Given the description of an element on the screen output the (x, y) to click on. 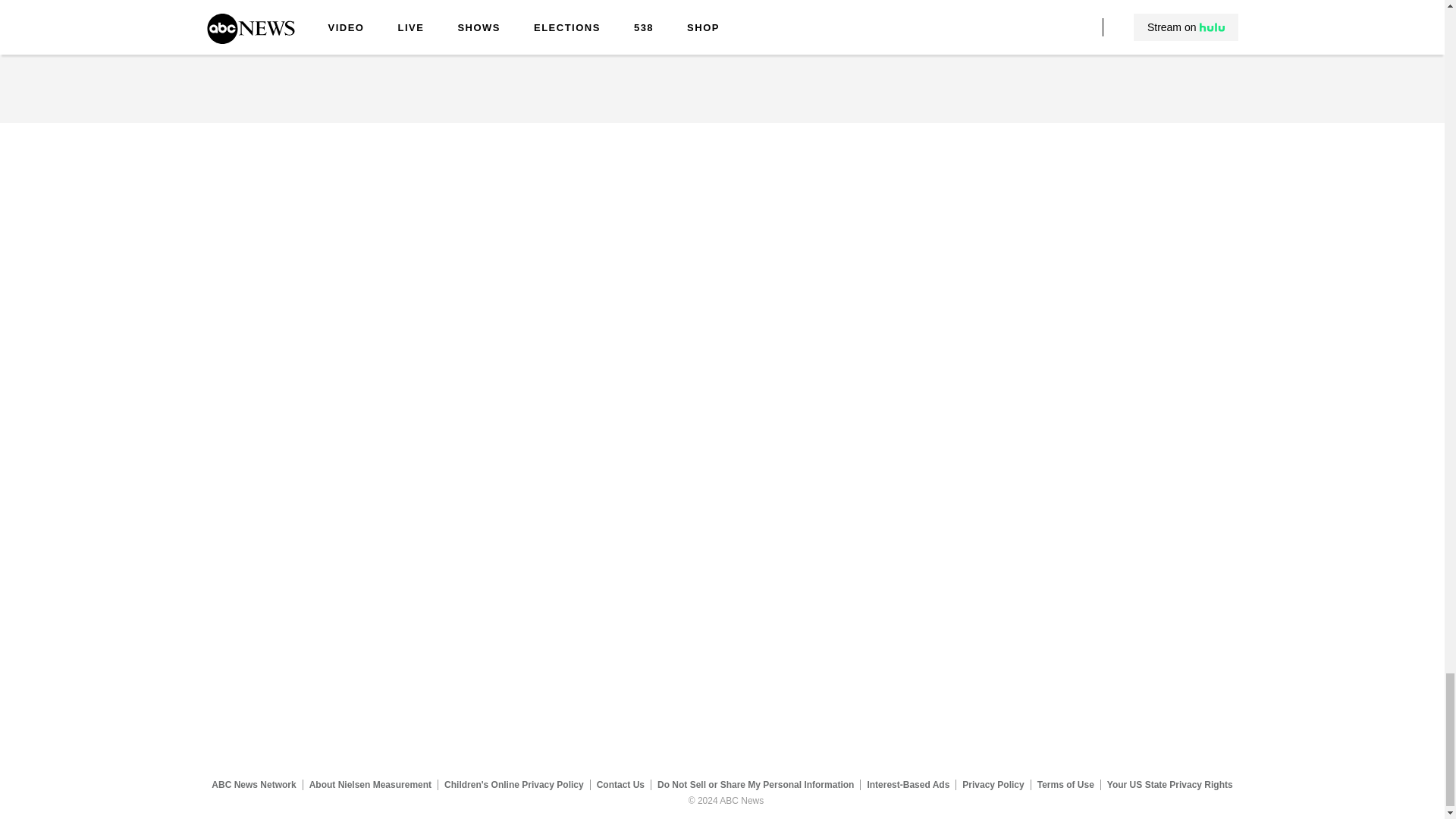
Contact Us (620, 784)
Privacy Policy (993, 784)
About Nielsen Measurement (370, 784)
Do Not Sell or Share My Personal Information (755, 784)
Terms of Use (1065, 784)
Interest-Based Ads (908, 784)
ABC News Network (253, 784)
Children's Online Privacy Policy (514, 784)
